Given the description of an element on the screen output the (x, y) to click on. 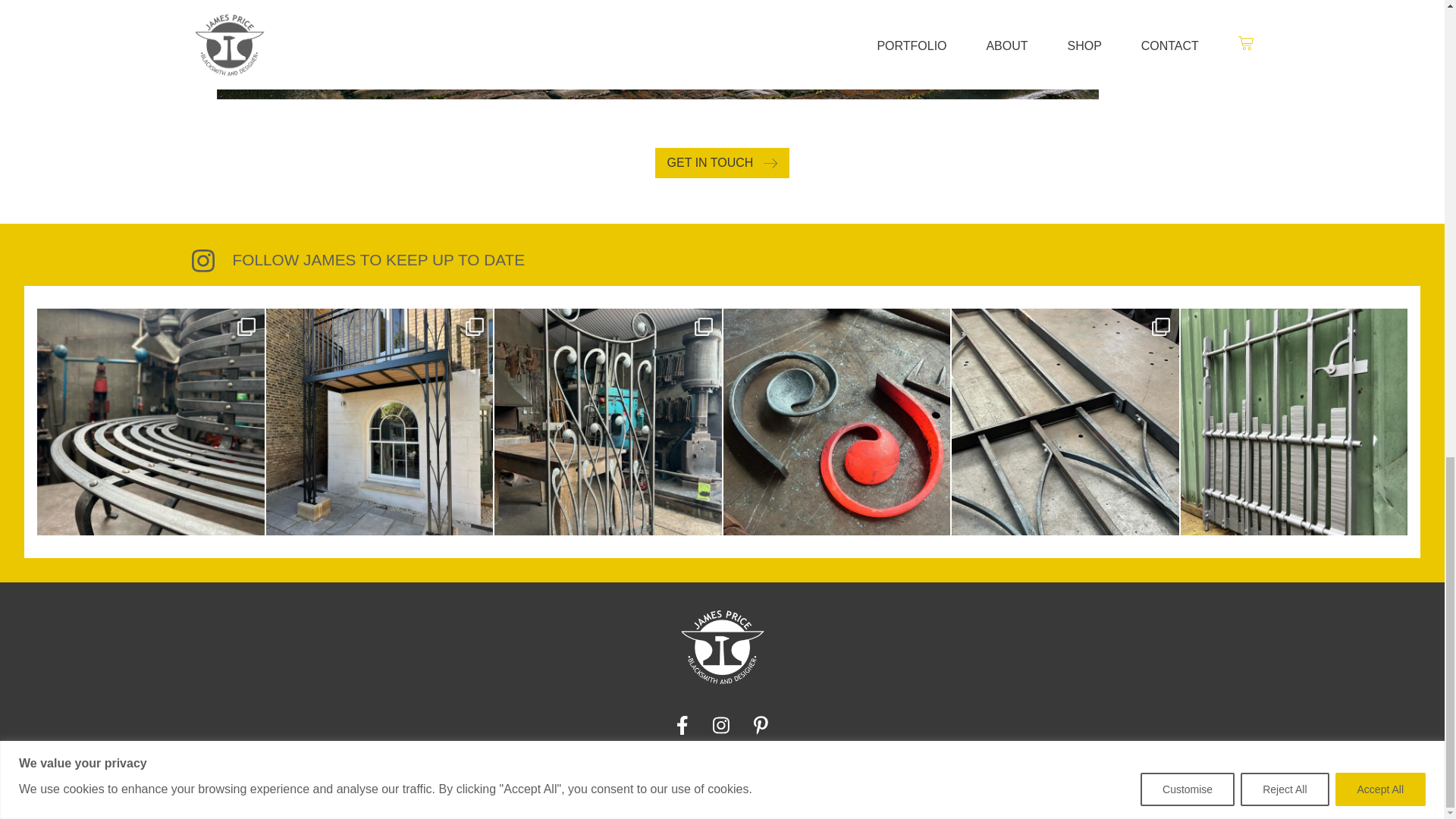
GET IN TOUCH (722, 163)
FOLLOW JAMES TO KEEP UP TO DATE (721, 260)
